Given the description of an element on the screen output the (x, y) to click on. 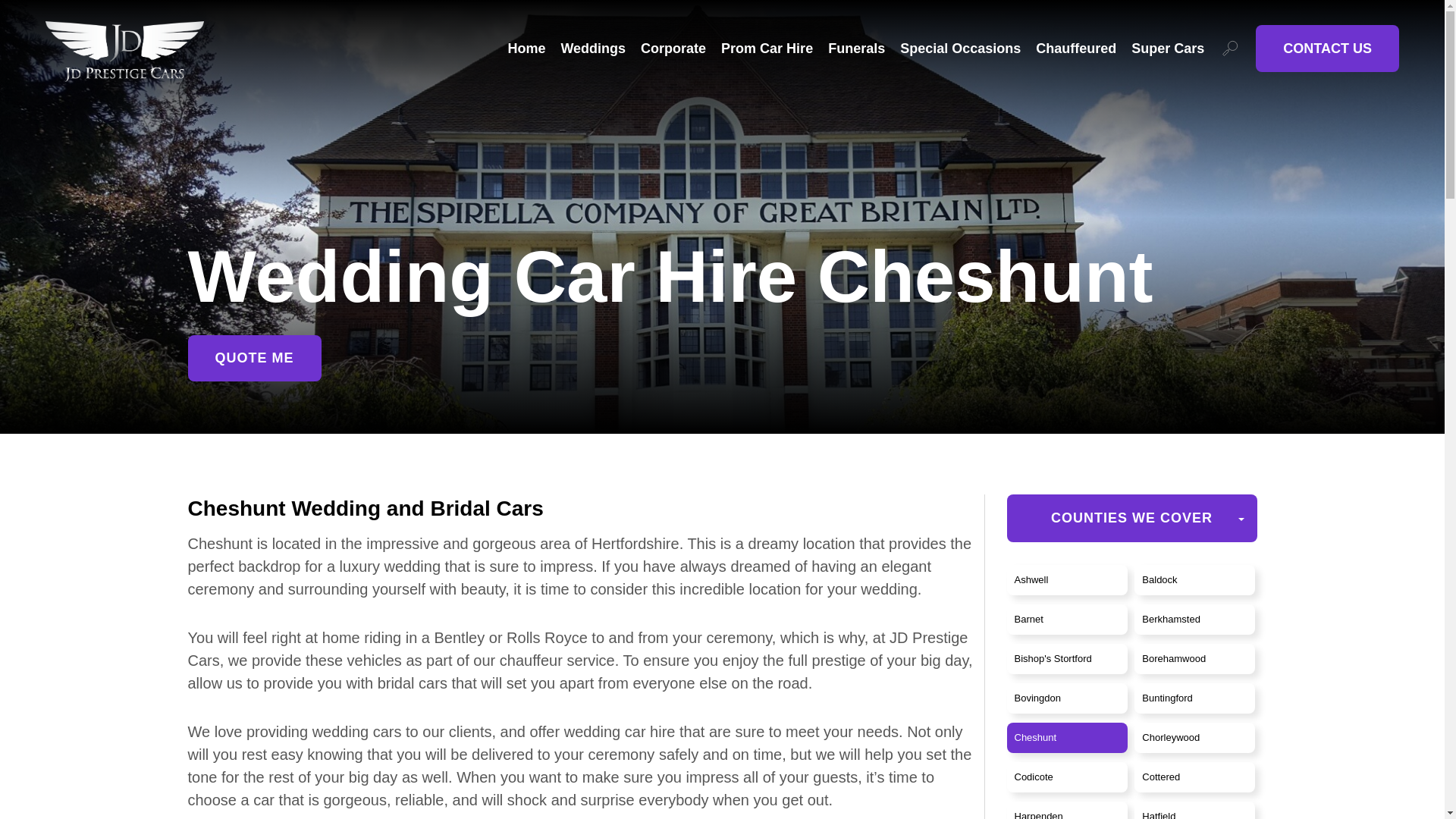
Home (525, 48)
Weddings (593, 48)
Search (1230, 47)
Super Cars (1167, 48)
Chauffeured (1075, 48)
Corporate (673, 48)
CONTACT US (1327, 48)
Funerals (856, 48)
Special Occasions (959, 48)
Prom Car Hire (766, 48)
